Given the description of an element on the screen output the (x, y) to click on. 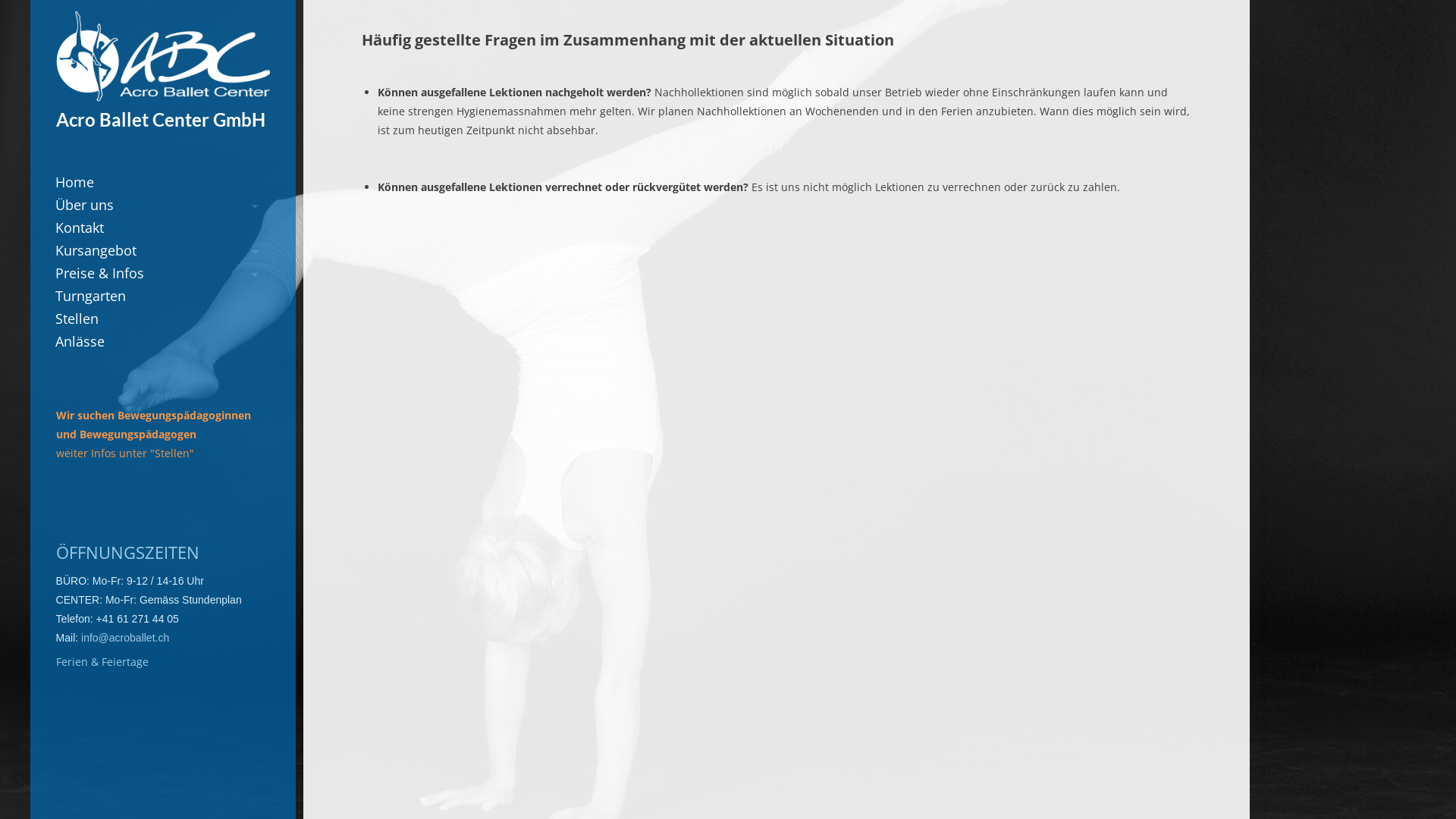
Acro Ballet Center GmbH Element type: text (160, 119)
Turngarten Element type: text (156, 295)
Home Element type: text (156, 181)
Kontakt Element type: text (156, 227)
Ferien & Feiertage Element type: text (102, 661)
info@acroballet.ch Element type: text (125, 637)
Stellen Element type: text (156, 318)
